Given the description of an element on the screen output the (x, y) to click on. 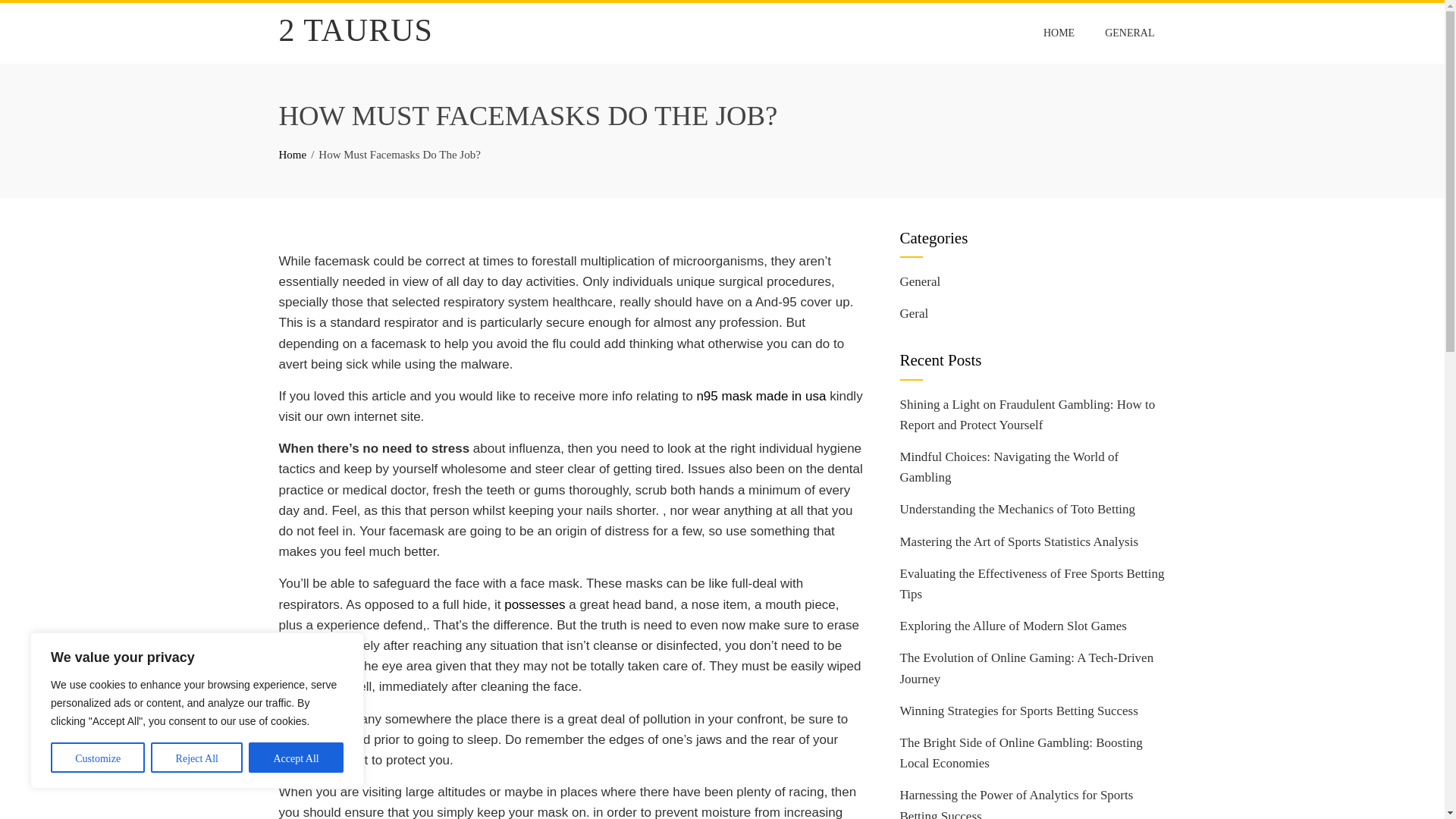
GENERAL (1129, 32)
Winning Strategies for Sports Betting Success (1018, 710)
Mindful Choices: Navigating the World of Gambling (1008, 466)
General (919, 281)
Harnessing the Power of Analytics for Sports Betting Success (1015, 803)
n95 mask made in usa (760, 396)
Evaluating the Effectiveness of Free Sports Betting Tips (1031, 583)
The Evolution of Online Gaming: A Tech-Driven Journey (1026, 667)
possesses (533, 604)
